Given the description of an element on the screen output the (x, y) to click on. 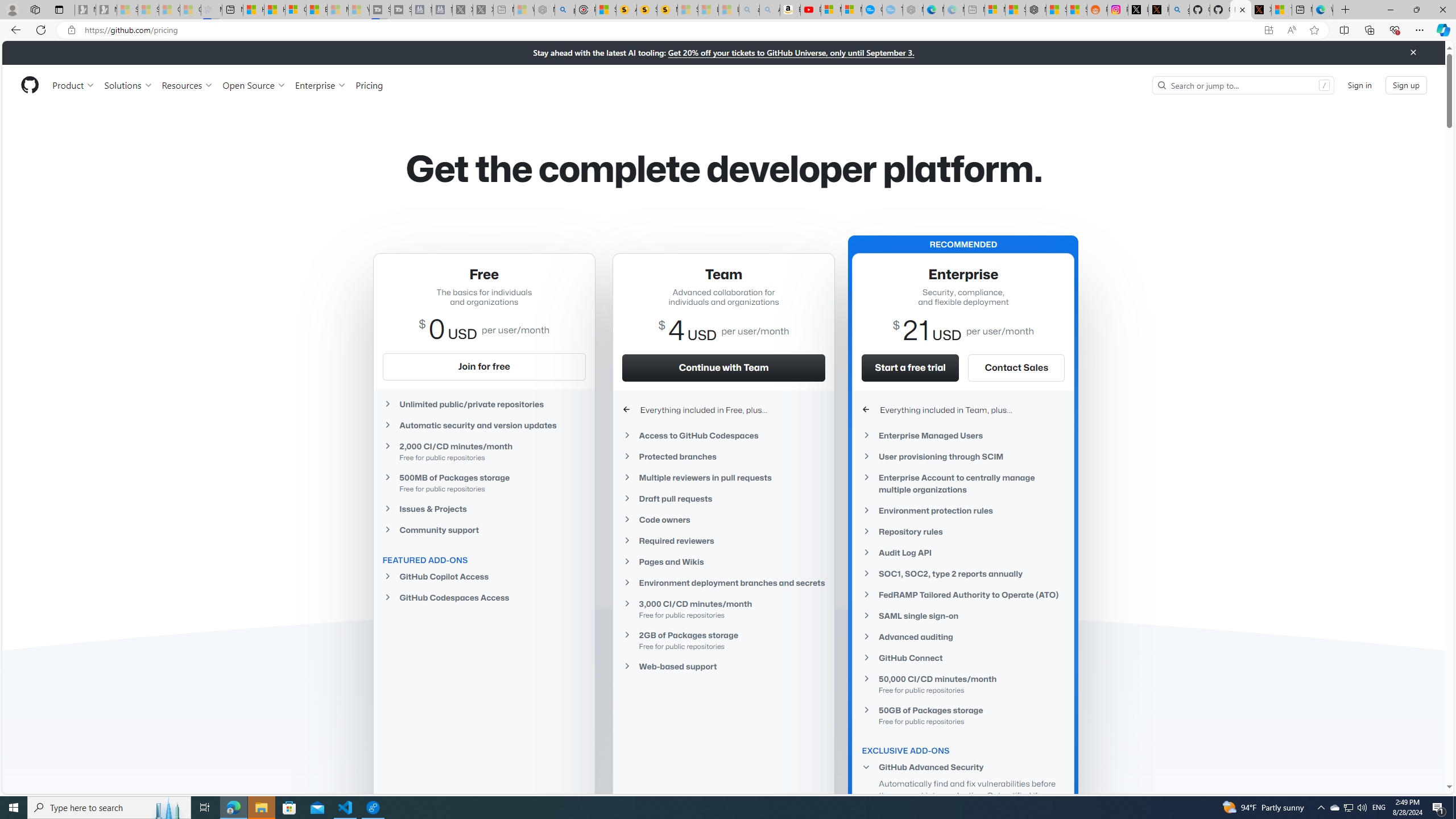
Newsletter Sign Up - Sleeping (106, 9)
SAML single sign-on (963, 615)
The most popular Google 'how to' searches - Sleeping (892, 9)
Enterprise (319, 84)
Resources (187, 84)
SOC1, SOC2, type 2 reports annually (963, 573)
3,000 CI/CD minutes/month Free for public repositories (723, 608)
50,000 CI/CD minutes/month Free for public repositories (963, 684)
Microsoft Start - Sleeping (337, 9)
